Given the description of an element on the screen output the (x, y) to click on. 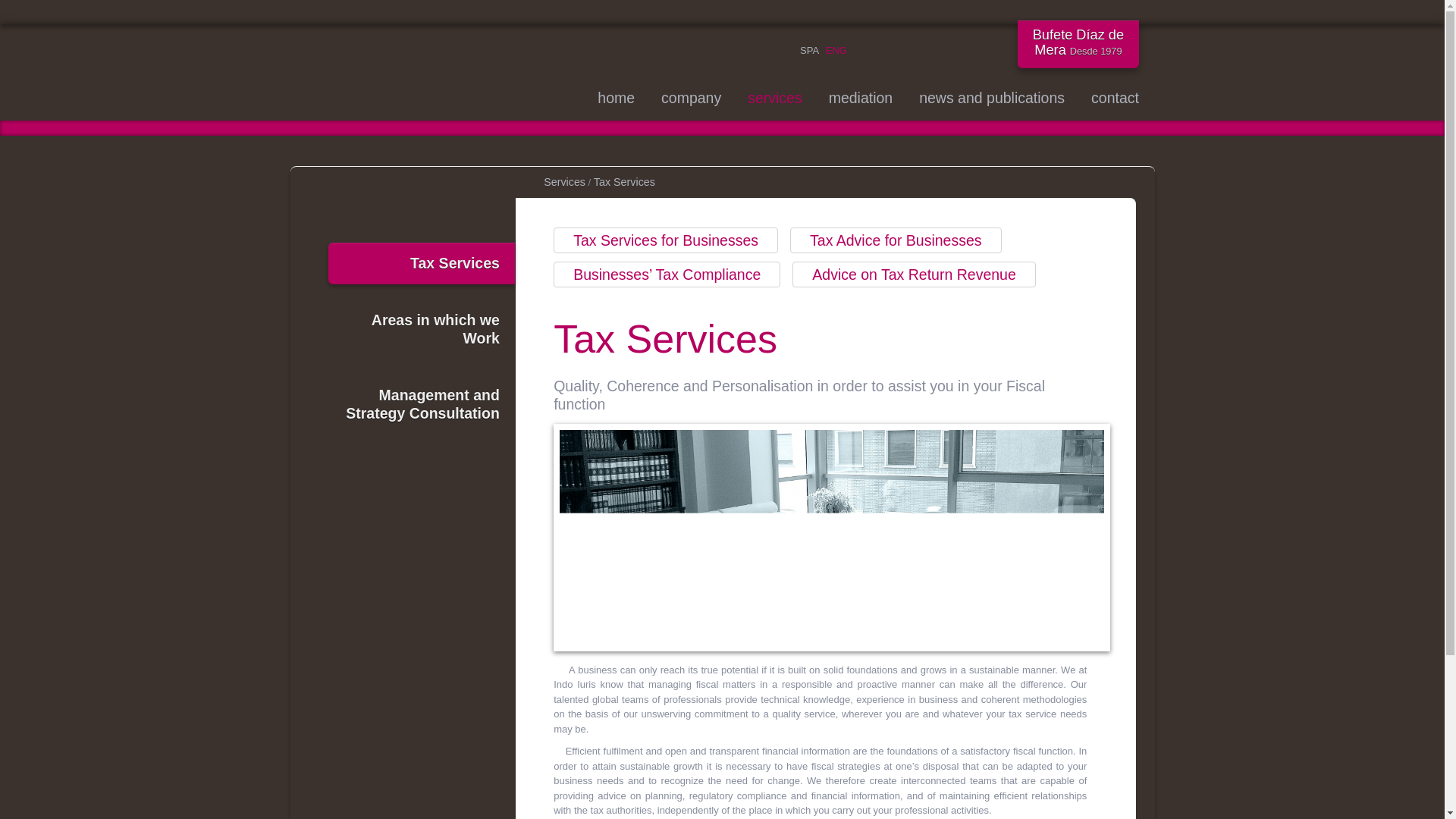
news and publications (991, 97)
Tax Services for Businesses (665, 240)
Tax Services (420, 263)
mediation (860, 97)
Areas in which we Work (420, 329)
home (615, 97)
Advice on Tax Return Revenue (913, 274)
English (836, 50)
Tax Advice for Businesses (895, 240)
Management and Strategy Consultation (420, 404)
Tax Services (624, 179)
services (775, 97)
ENG (836, 50)
Spanish (808, 50)
company (690, 97)
